Given the description of an element on the screen output the (x, y) to click on. 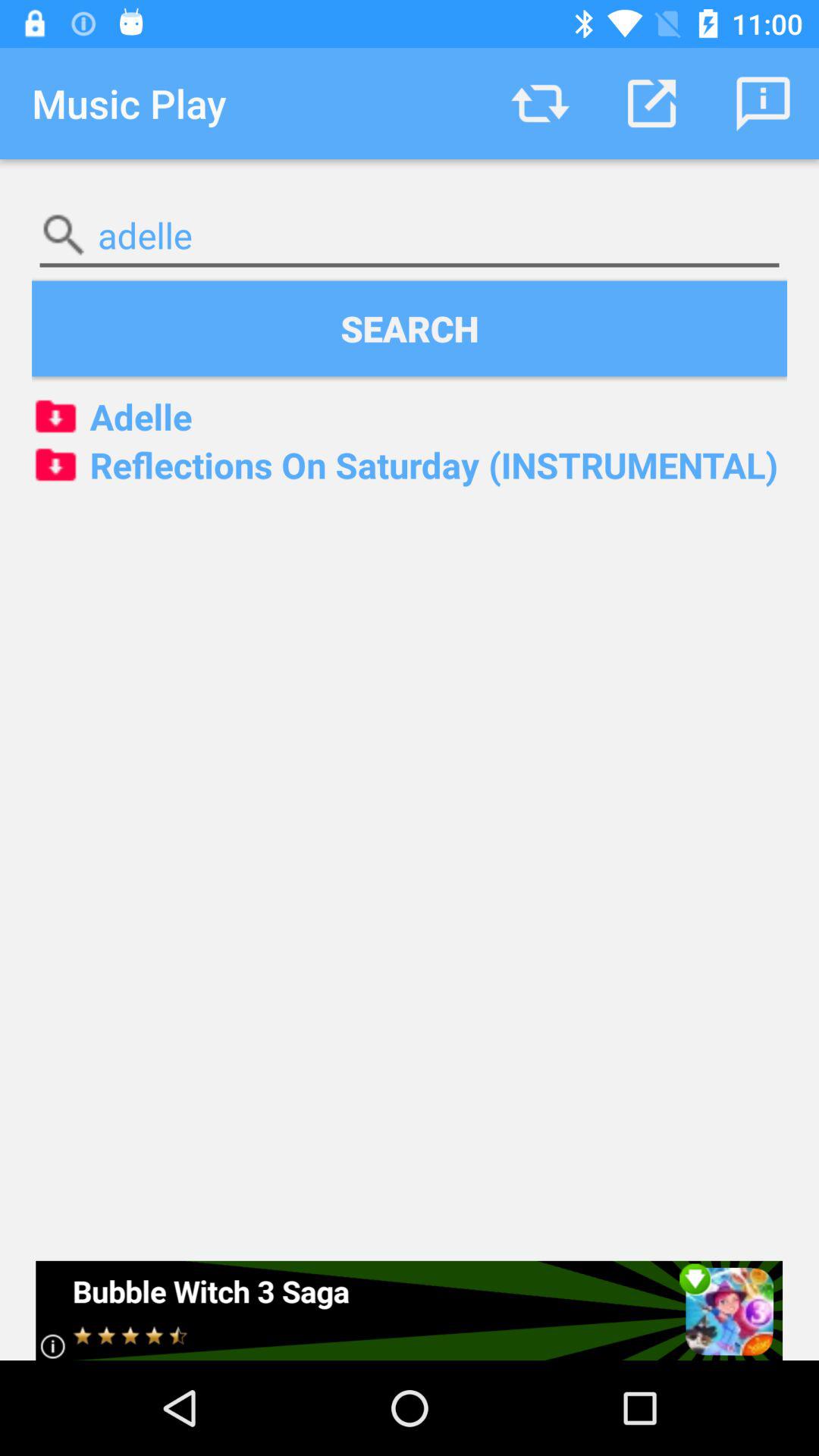
launch the icon above the adelle item (763, 103)
